Given the description of an element on the screen output the (x, y) to click on. 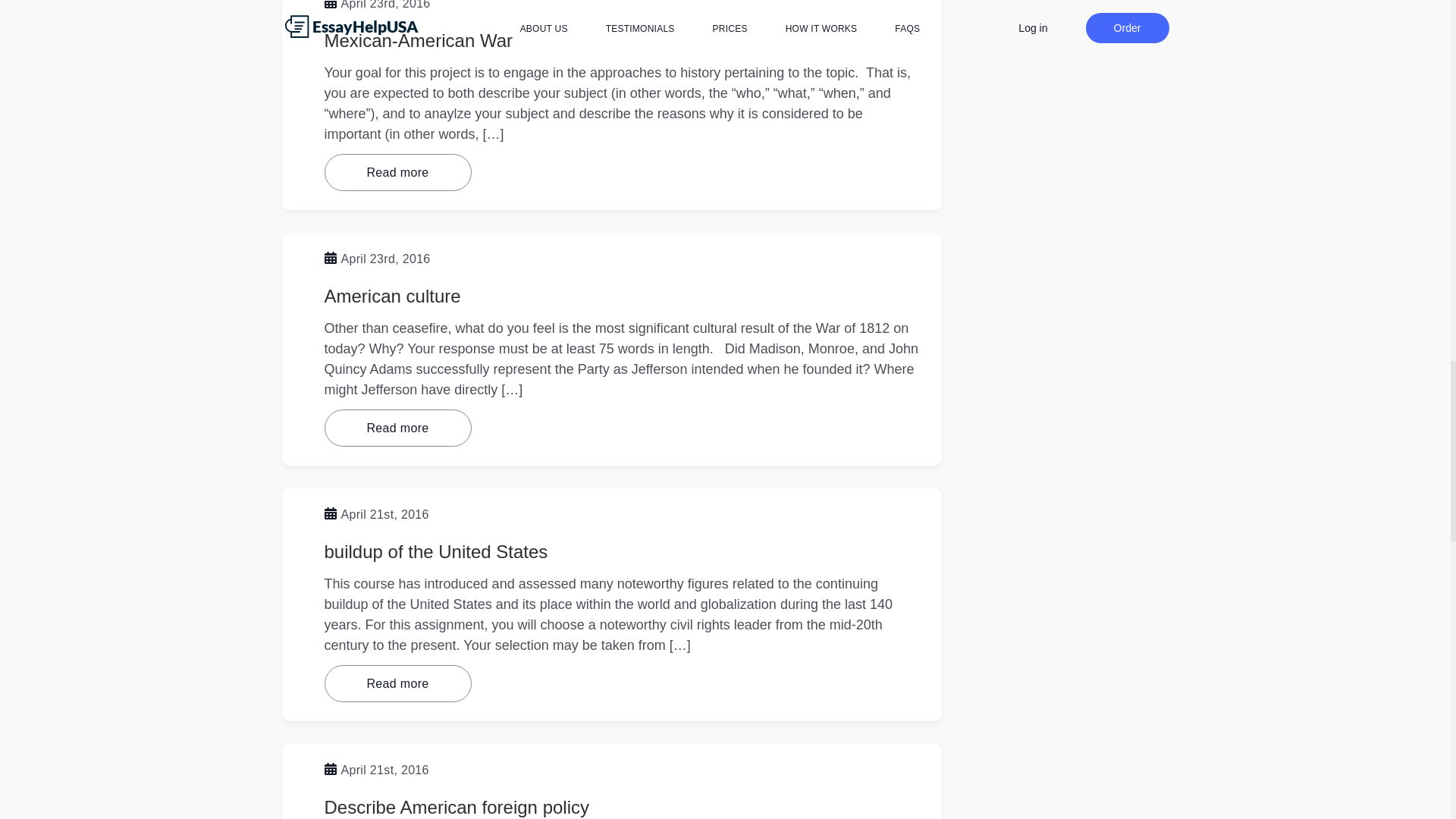
Mexican-American War (418, 40)
Describe American foreign policy (456, 806)
Read more (397, 171)
American culture (392, 295)
Read more (397, 427)
buildup of the United States (436, 551)
Read more (397, 683)
